Given the description of an element on the screen output the (x, y) to click on. 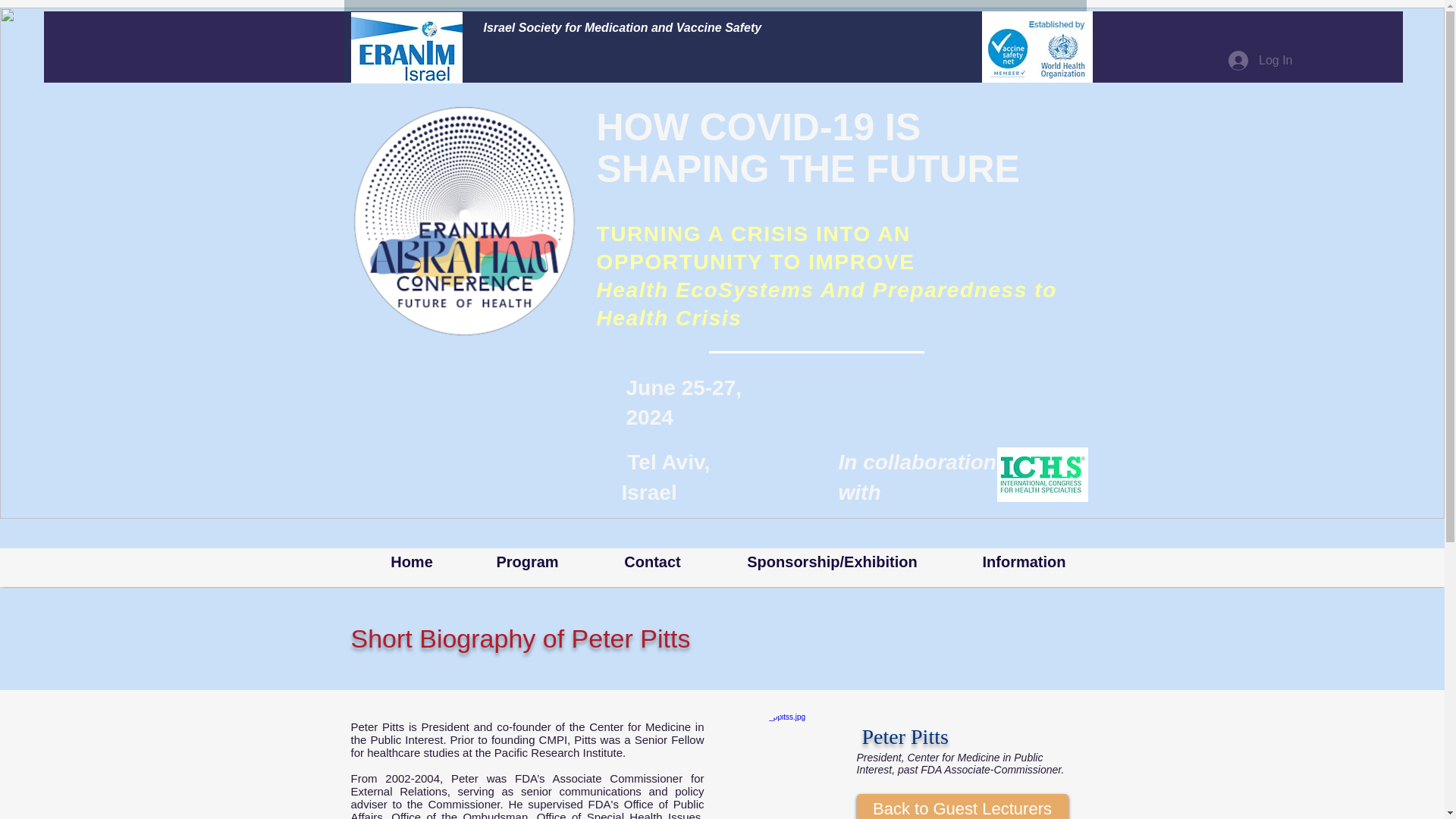
Log In (1260, 60)
Program (526, 561)
Hom Abraham confrece (464, 221)
logo vsn.jpg (1036, 46)
Contact (651, 561)
Back to Guest Lecturers (962, 806)
Home (411, 561)
